Given the description of an element on the screen output the (x, y) to click on. 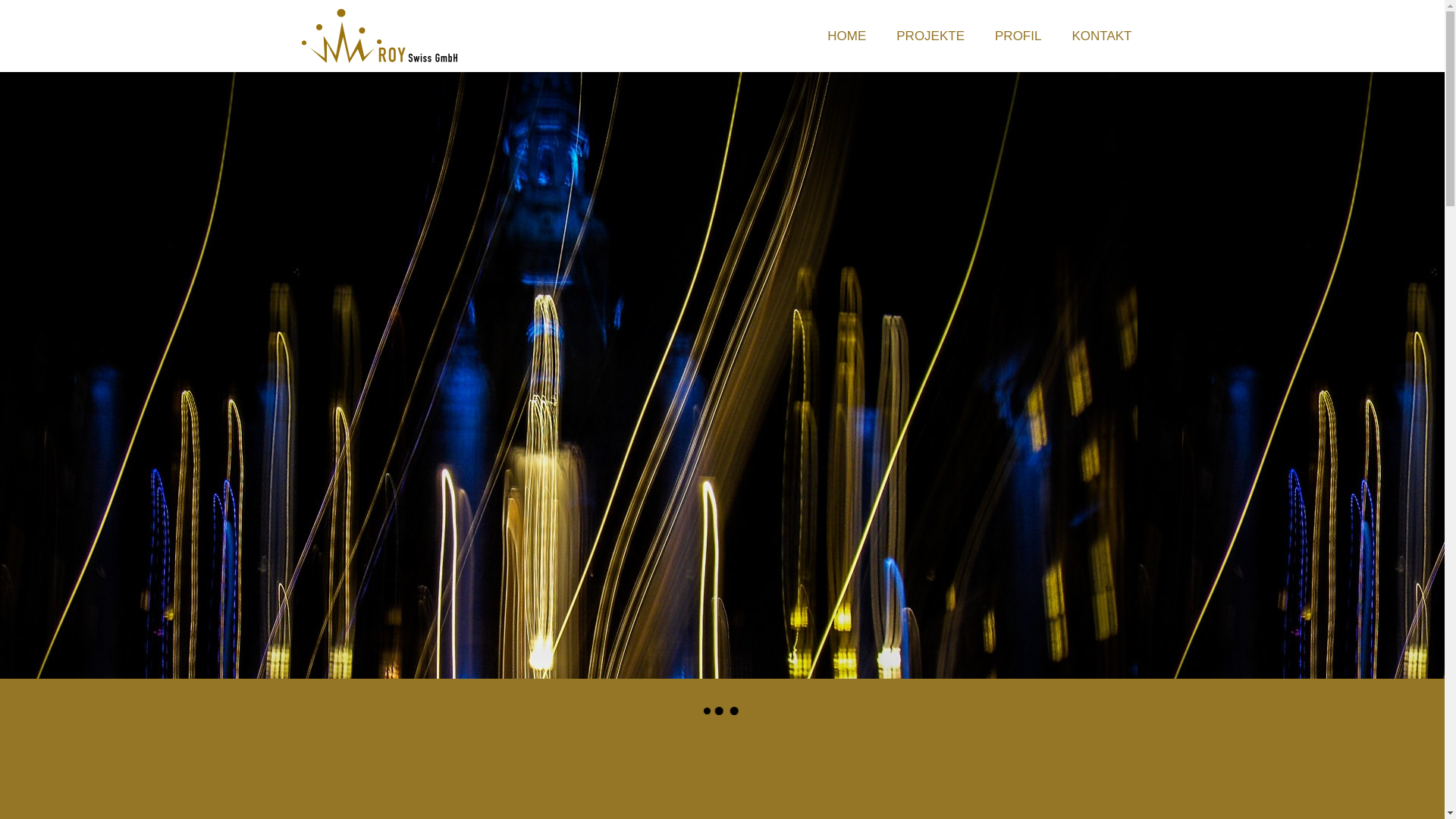
HOME Element type: text (846, 35)
PROFIL Element type: text (1017, 35)
PROJEKTE Element type: text (930, 35)
KONTAKT Element type: text (1101, 35)
